Given the description of an element on the screen output the (x, y) to click on. 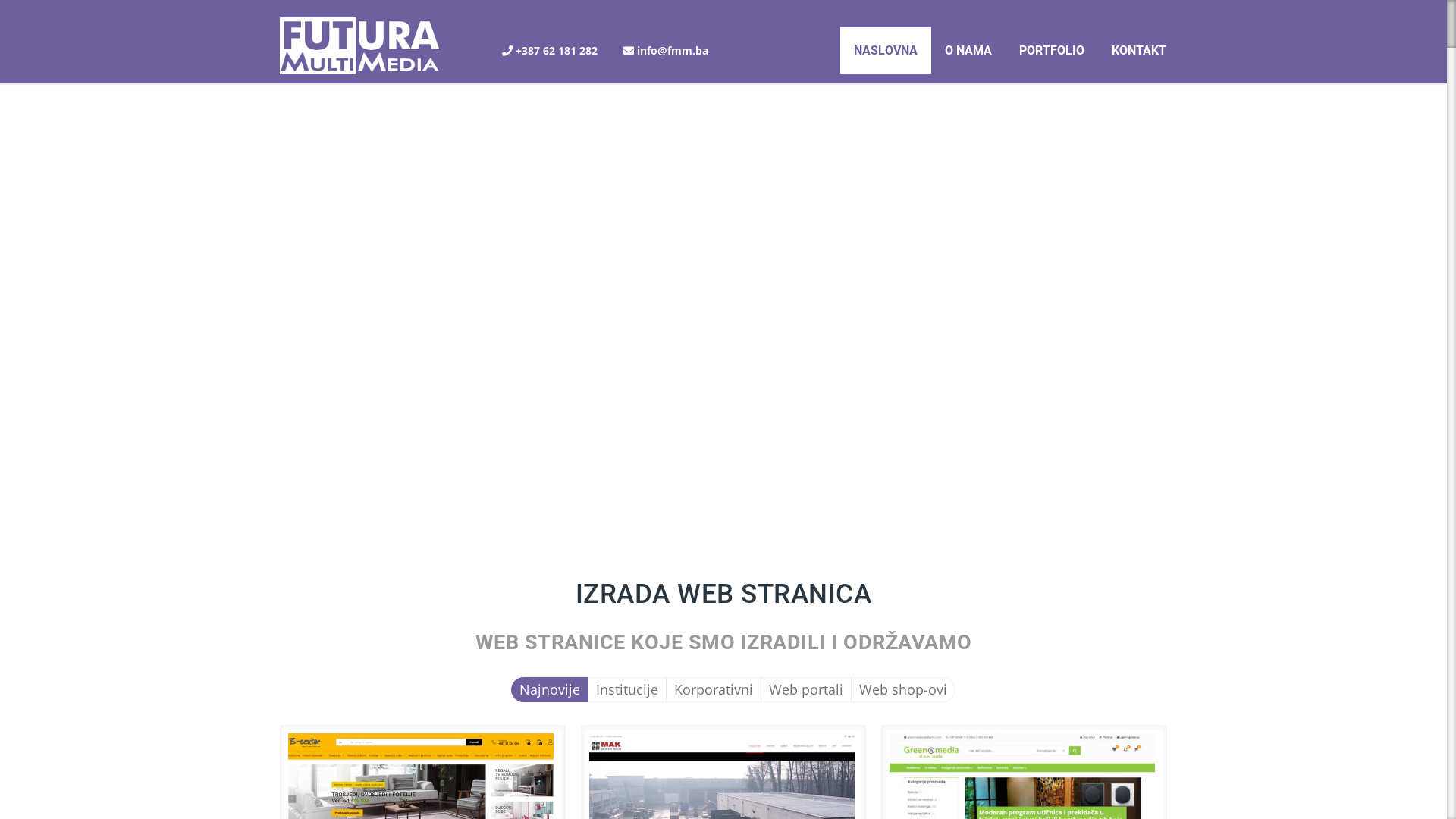
O NAMA Element type: text (968, 50)
PORTFOLIO Element type: text (1051, 50)
NASLOVNA Element type: text (885, 50)
info@fmm.ba Element type: text (672, 50)
KONTAKT Element type: text (1138, 50)
